Given the description of an element on the screen output the (x, y) to click on. 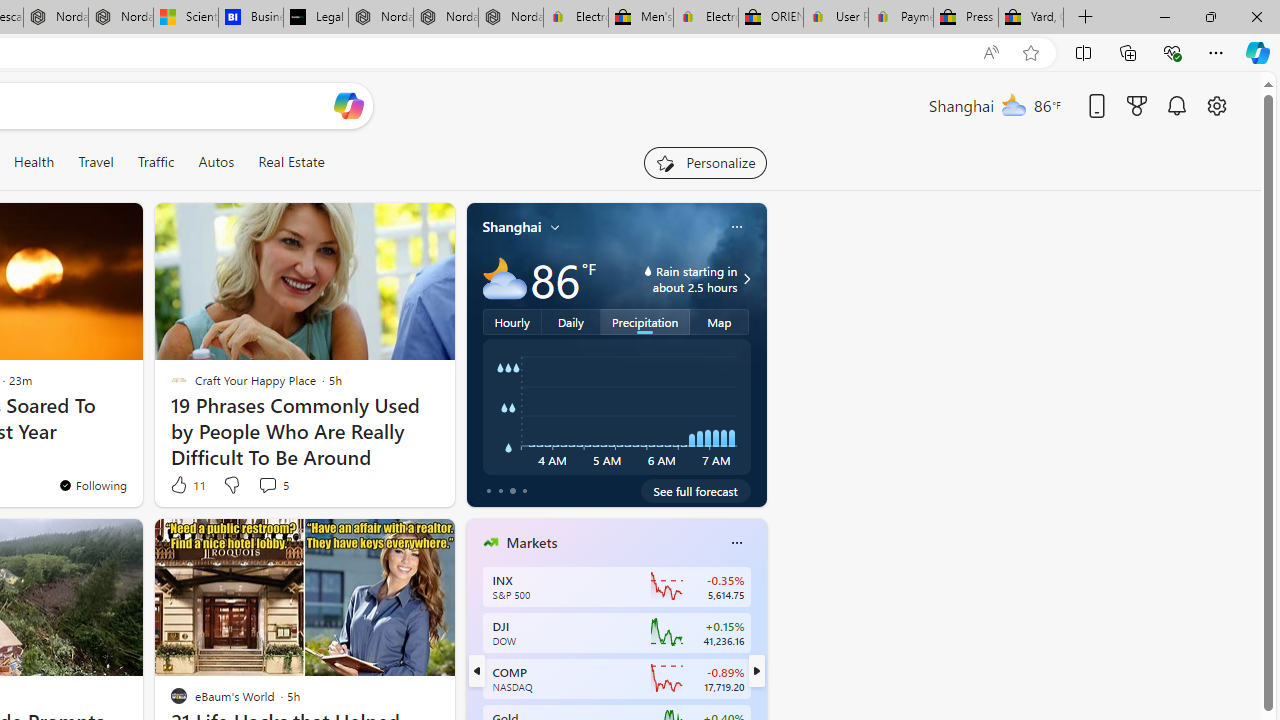
Hide this story (393, 542)
water-drop-icon (648, 270)
tab-0 (488, 490)
